Given the description of an element on the screen output the (x, y) to click on. 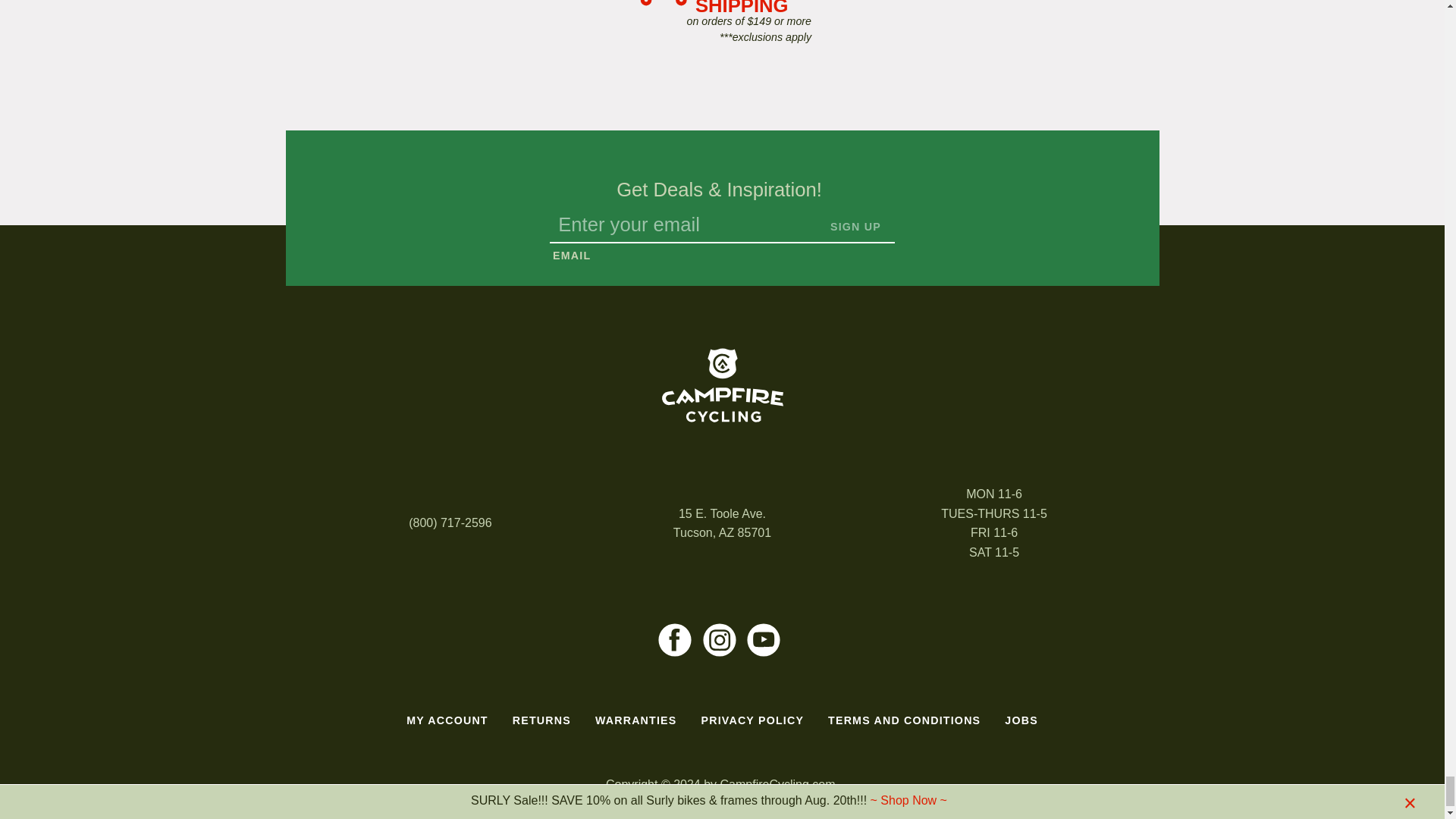
Facebook (675, 639)
to home page (722, 385)
Instagram (718, 639)
YouTube (762, 639)
